Given the description of an element on the screen output the (x, y) to click on. 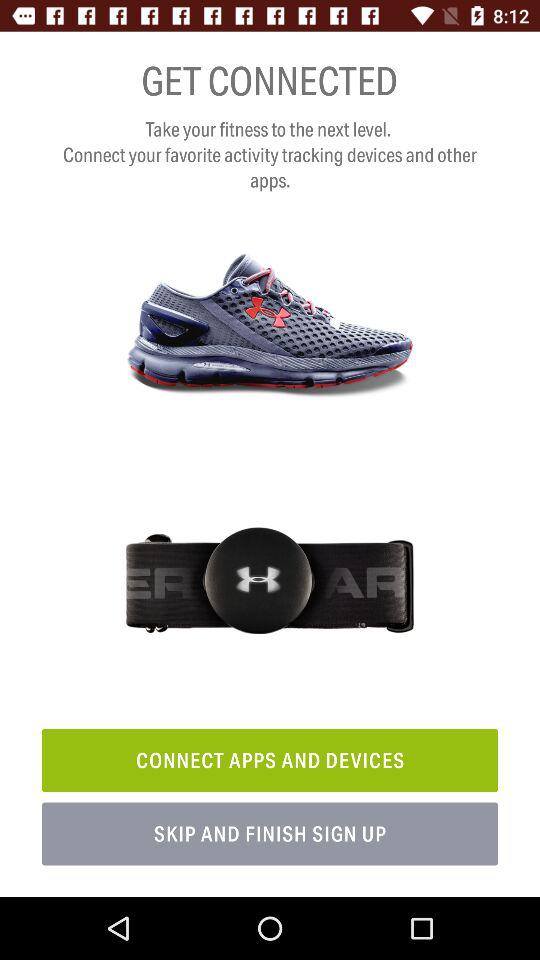
flip until skip and finish (269, 833)
